Given the description of an element on the screen output the (x, y) to click on. 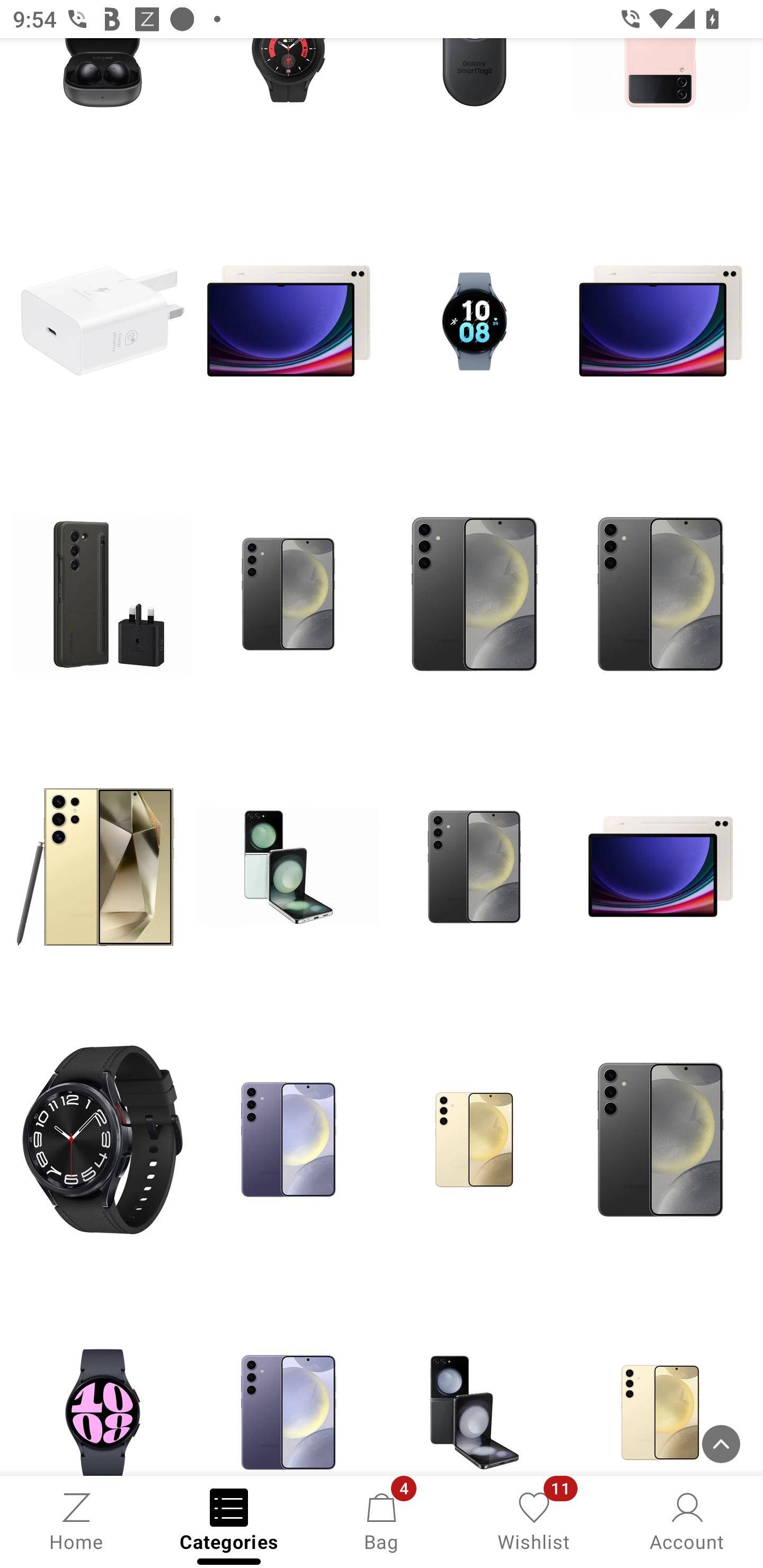
Home (76, 1519)
Bag, 4 new notifications Bag (381, 1519)
Wishlist, 11 new notifications Wishlist (533, 1519)
Account (686, 1519)
